Given the description of an element on the screen output the (x, y) to click on. 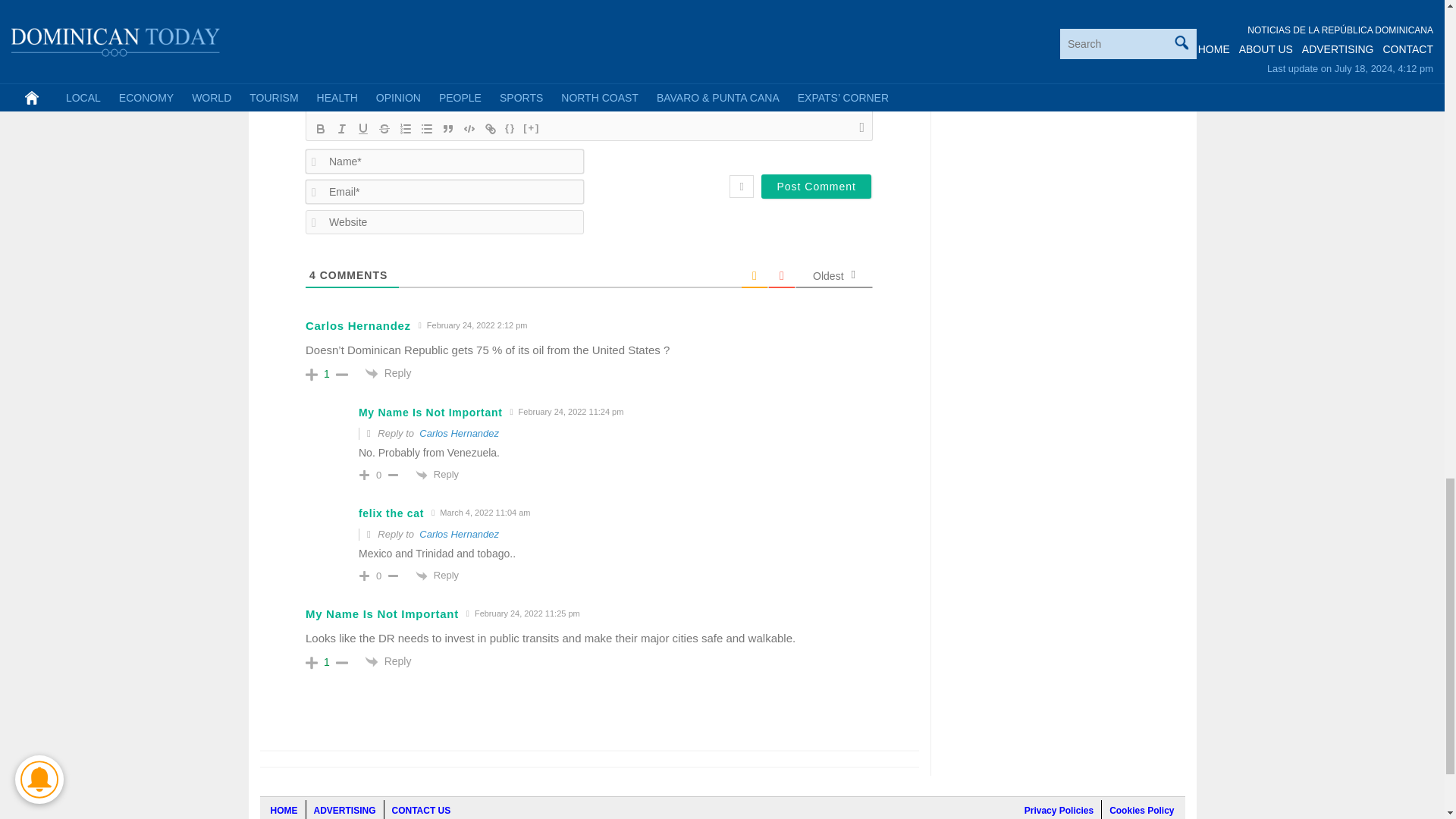
Post Comment (815, 186)
bullet (427, 128)
ordered (405, 128)
Italic (341, 128)
Bold (320, 128)
Strike (384, 128)
Unordered List (427, 128)
Source Code (509, 128)
Blockquote (448, 128)
Underline (363, 128)
Spoiler (531, 128)
Link (490, 128)
Code Block (469, 128)
Ordered List (405, 128)
